Given the description of an element on the screen output the (x, y) to click on. 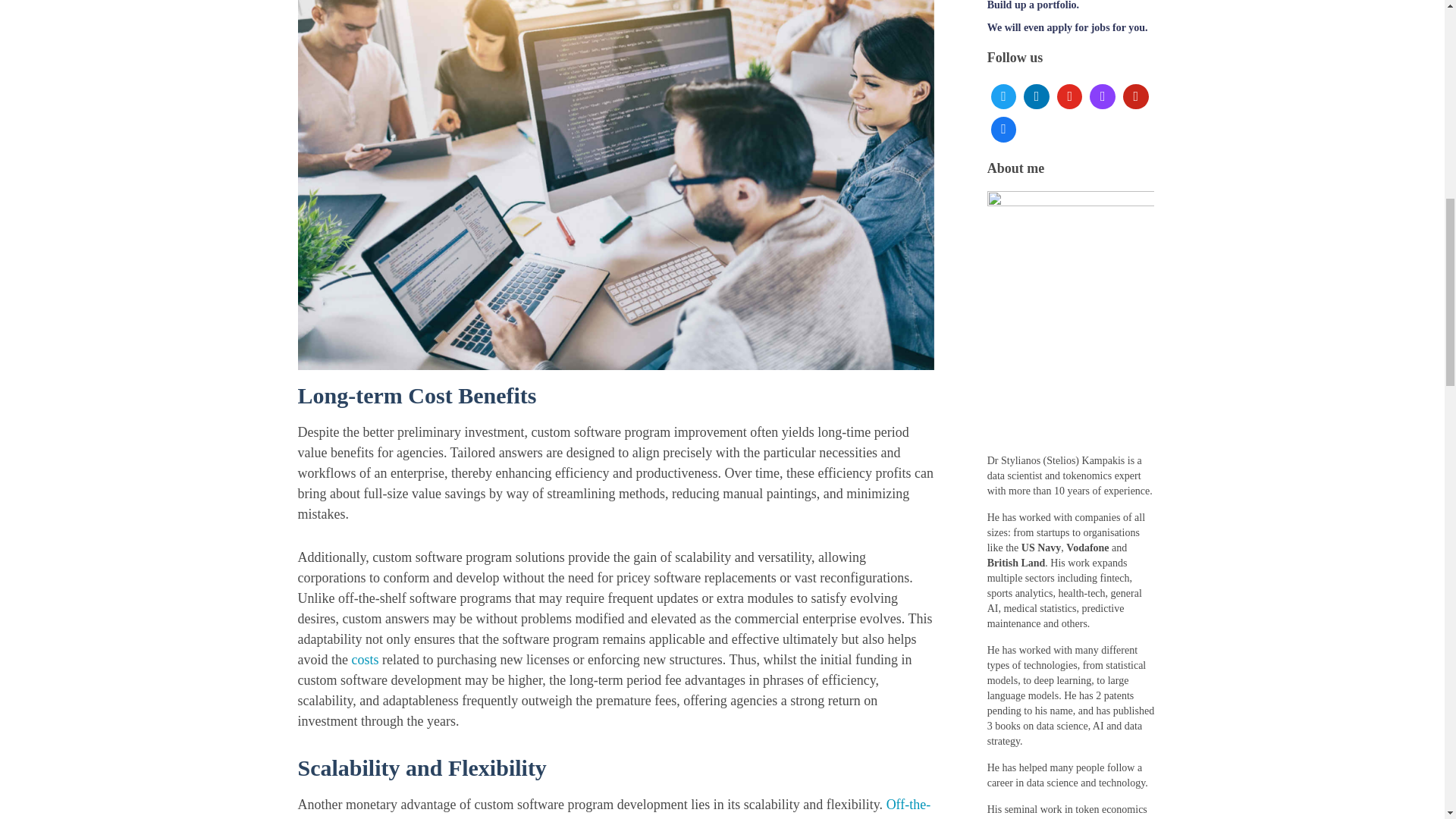
Pinterest (1136, 96)
costs (364, 659)
WordPress (1102, 96)
Facebook (1003, 129)
Twitter (1003, 96)
Linkedin (1036, 96)
WordPress (1069, 96)
